Given the description of an element on the screen output the (x, y) to click on. 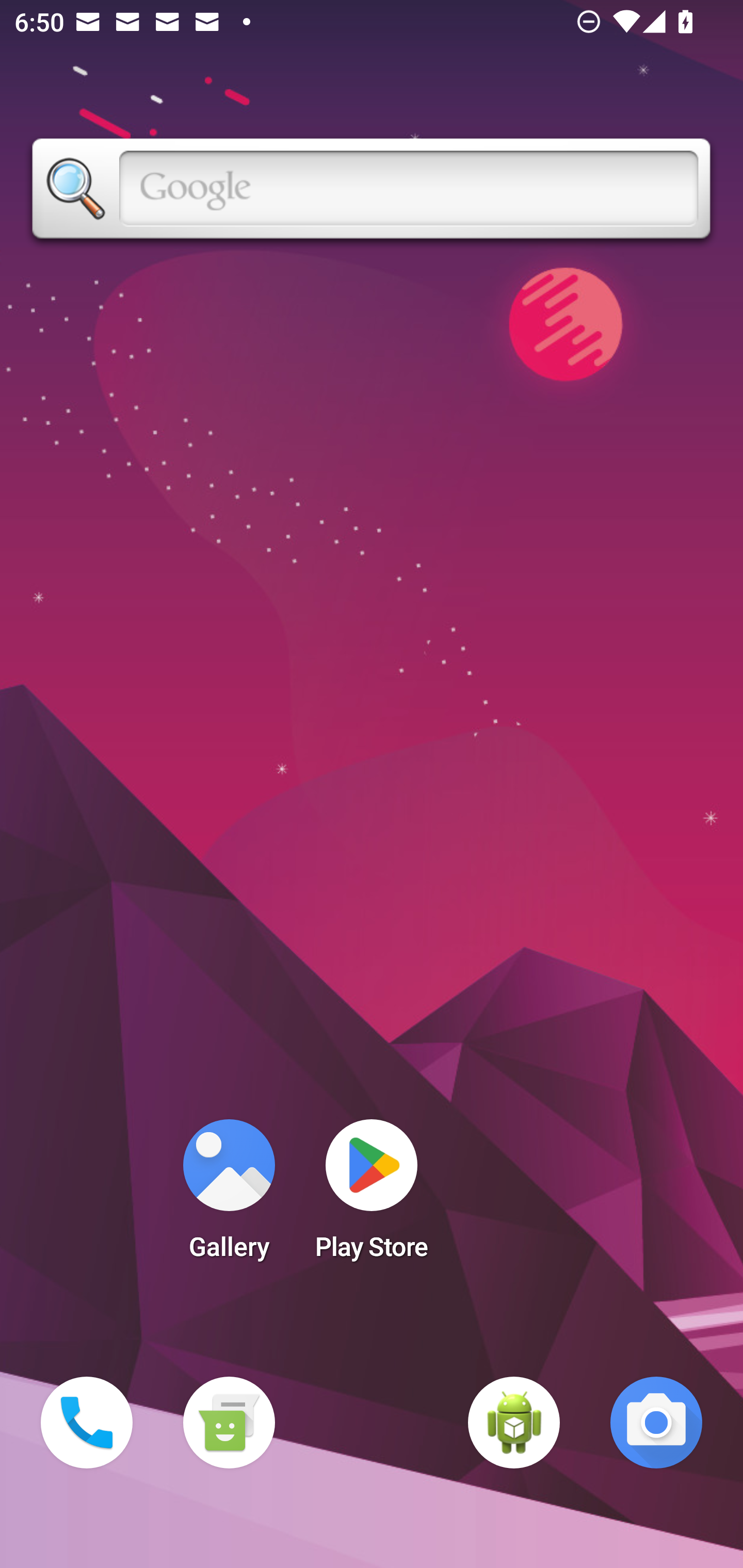
Gallery (228, 1195)
Play Store (371, 1195)
Phone (86, 1422)
Messaging (228, 1422)
WebView Browser Tester (513, 1422)
Camera (656, 1422)
